Given the description of an element on the screen output the (x, y) to click on. 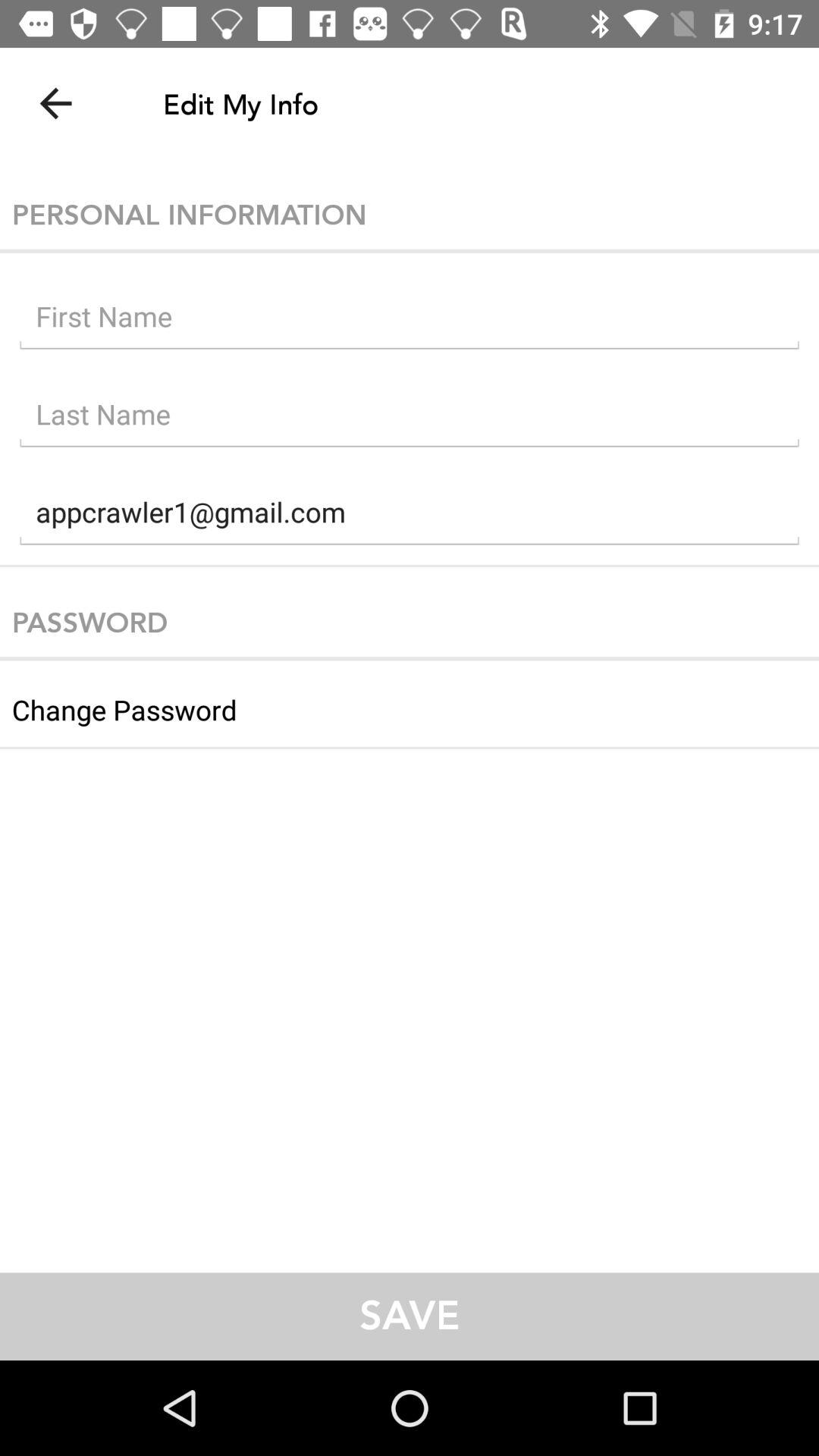
input field for first name (409, 320)
